Given the description of an element on the screen output the (x, y) to click on. 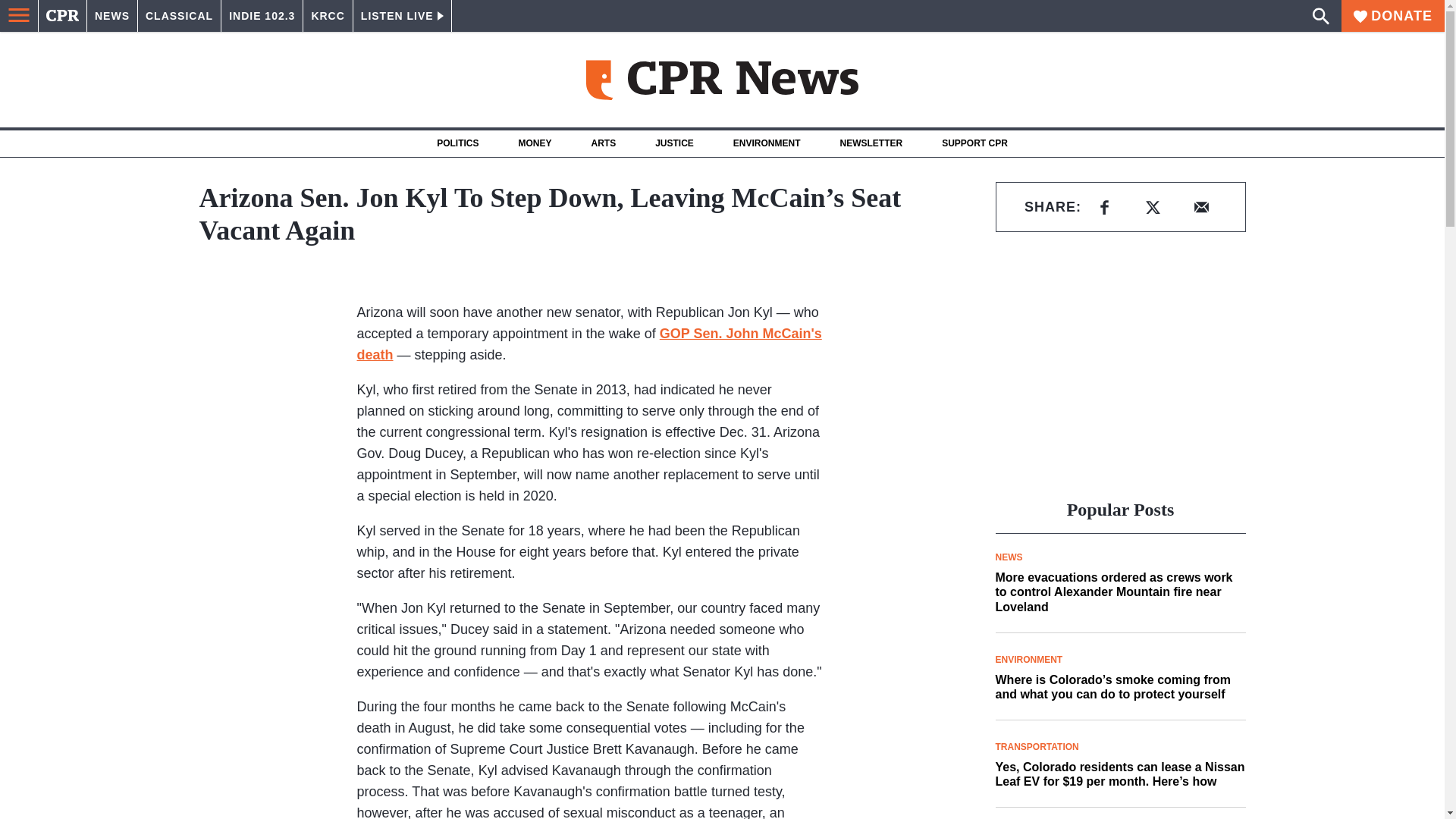
CLASSICAL (179, 15)
KRCC (327, 15)
INDIE 102.3 (261, 15)
LISTEN LIVE (402, 15)
NEWS (111, 15)
